Given the description of an element on the screen output the (x, y) to click on. 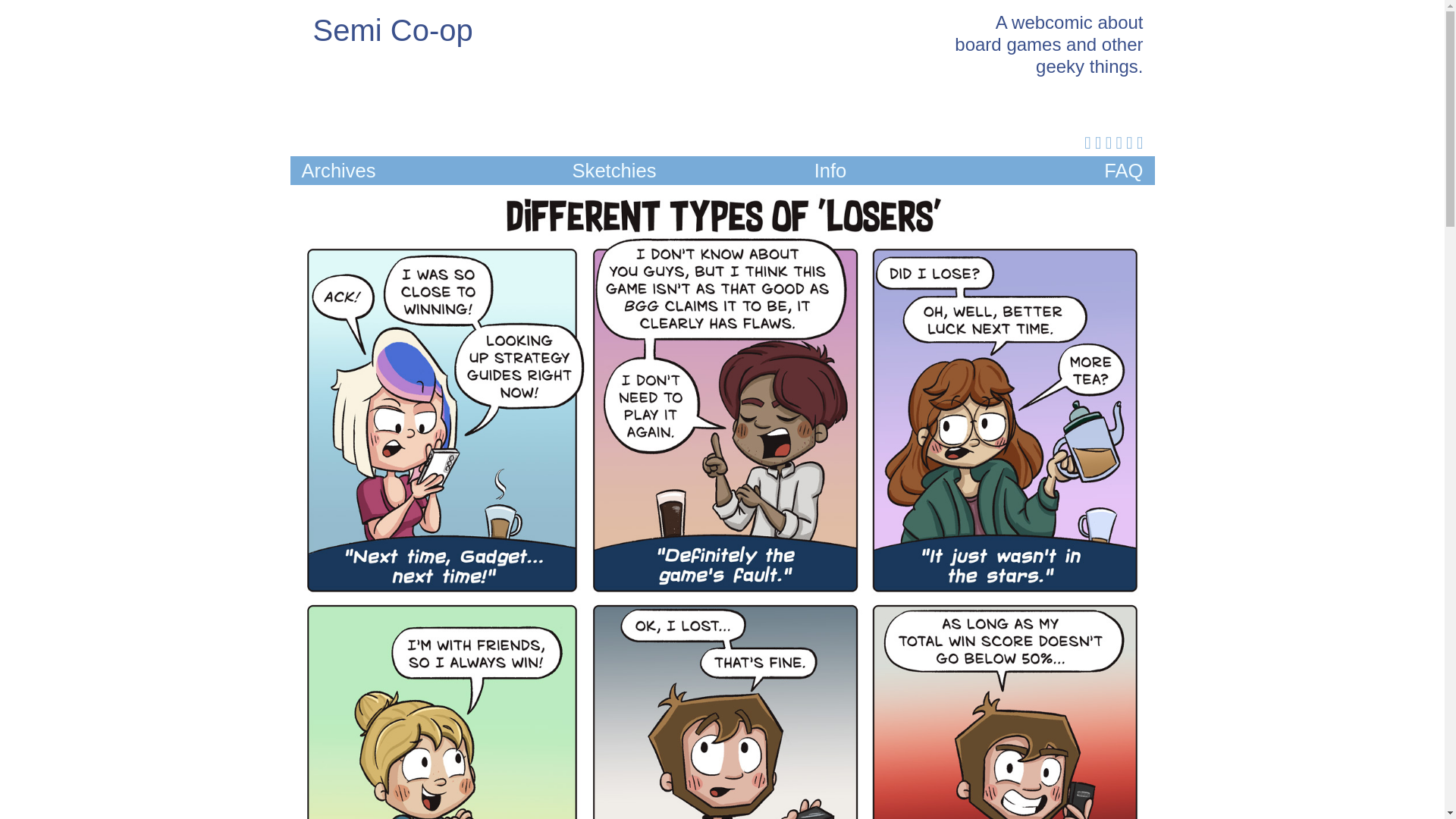
Info (830, 169)
Archives (338, 169)
Sketchies (614, 169)
Semi Co-op (392, 29)
FAQ (1122, 169)
